Given the description of an element on the screen output the (x, y) to click on. 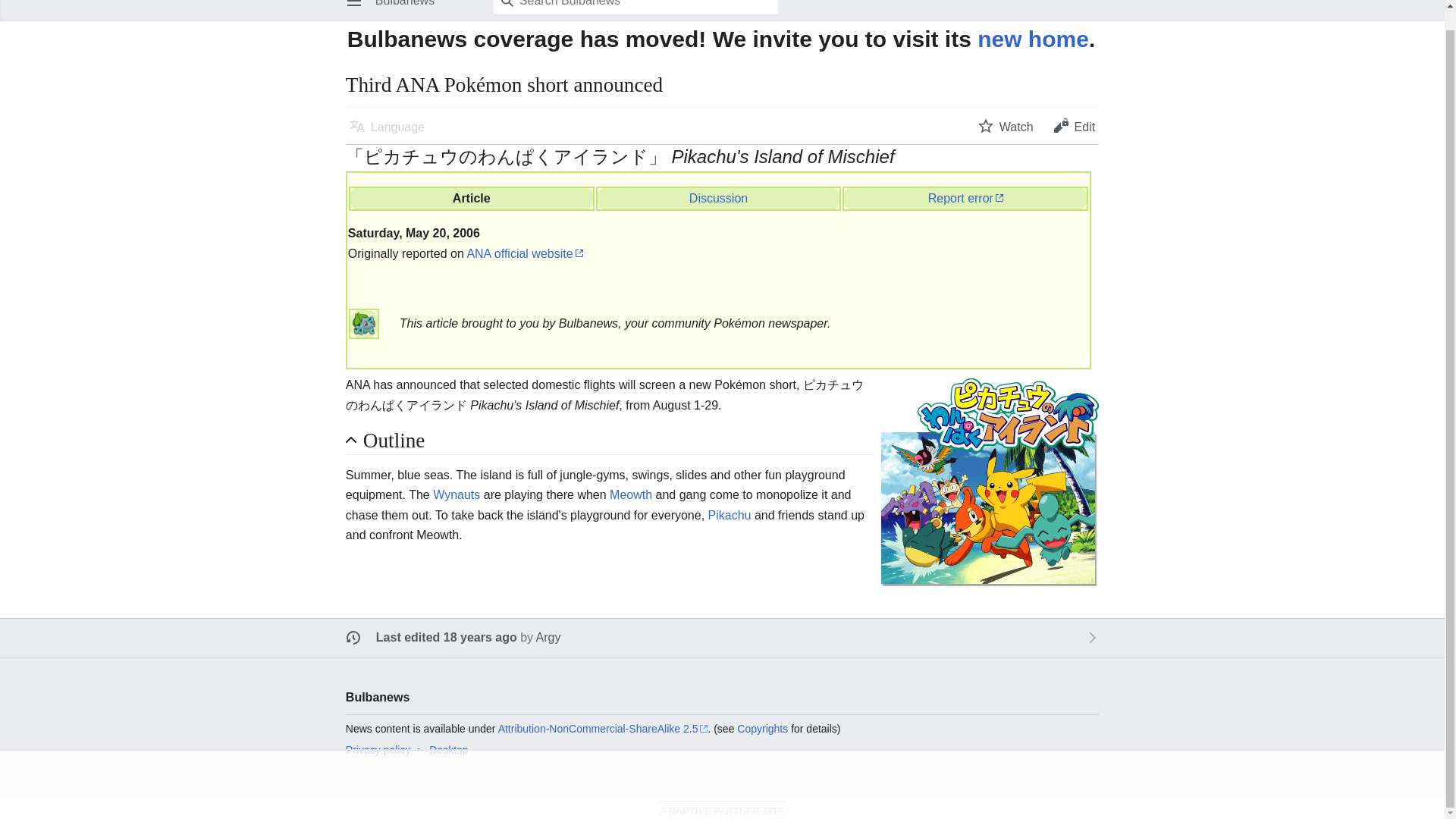
bp:Ash's Pikachu (729, 514)
Pikachu (729, 514)
Article (471, 197)
Wynauts (456, 494)
Meowth (631, 494)
Language (386, 125)
Privacy policy (378, 749)
bmgf:12793 (718, 197)
Discussion (718, 197)
Attribution-NonCommercial-ShareAlike 2.5 (602, 728)
Watch (1005, 125)
Report error (965, 197)
Watch (1005, 125)
Open main menu (353, 9)
